Given the description of an element on the screen output the (x, y) to click on. 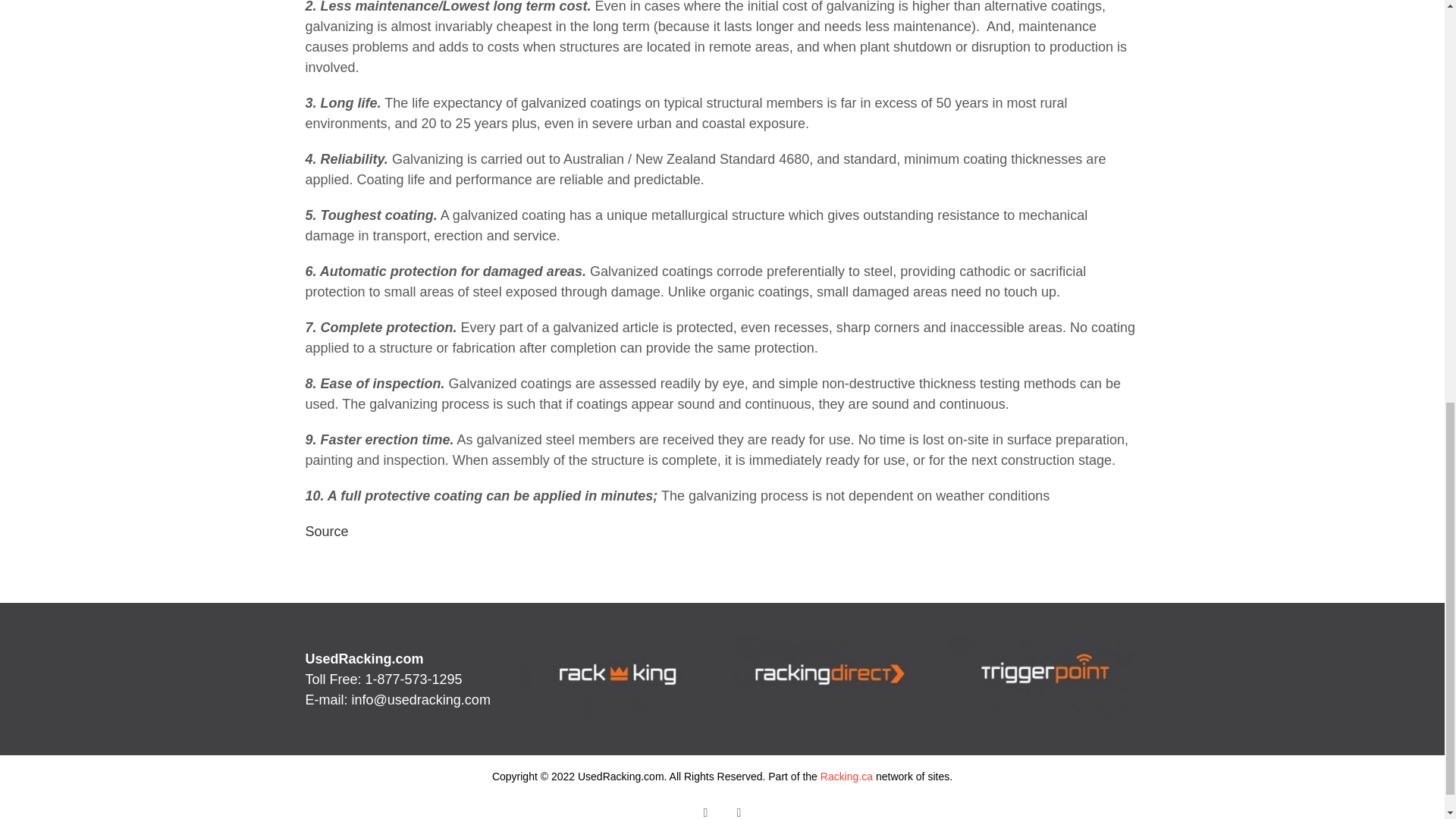
X (739, 809)
Facebook (706, 809)
Source (325, 531)
1-877-573-1295 (414, 679)
Racking.ca (846, 776)
Facebook (706, 809)
X (739, 809)
